Given the description of an element on the screen output the (x, y) to click on. 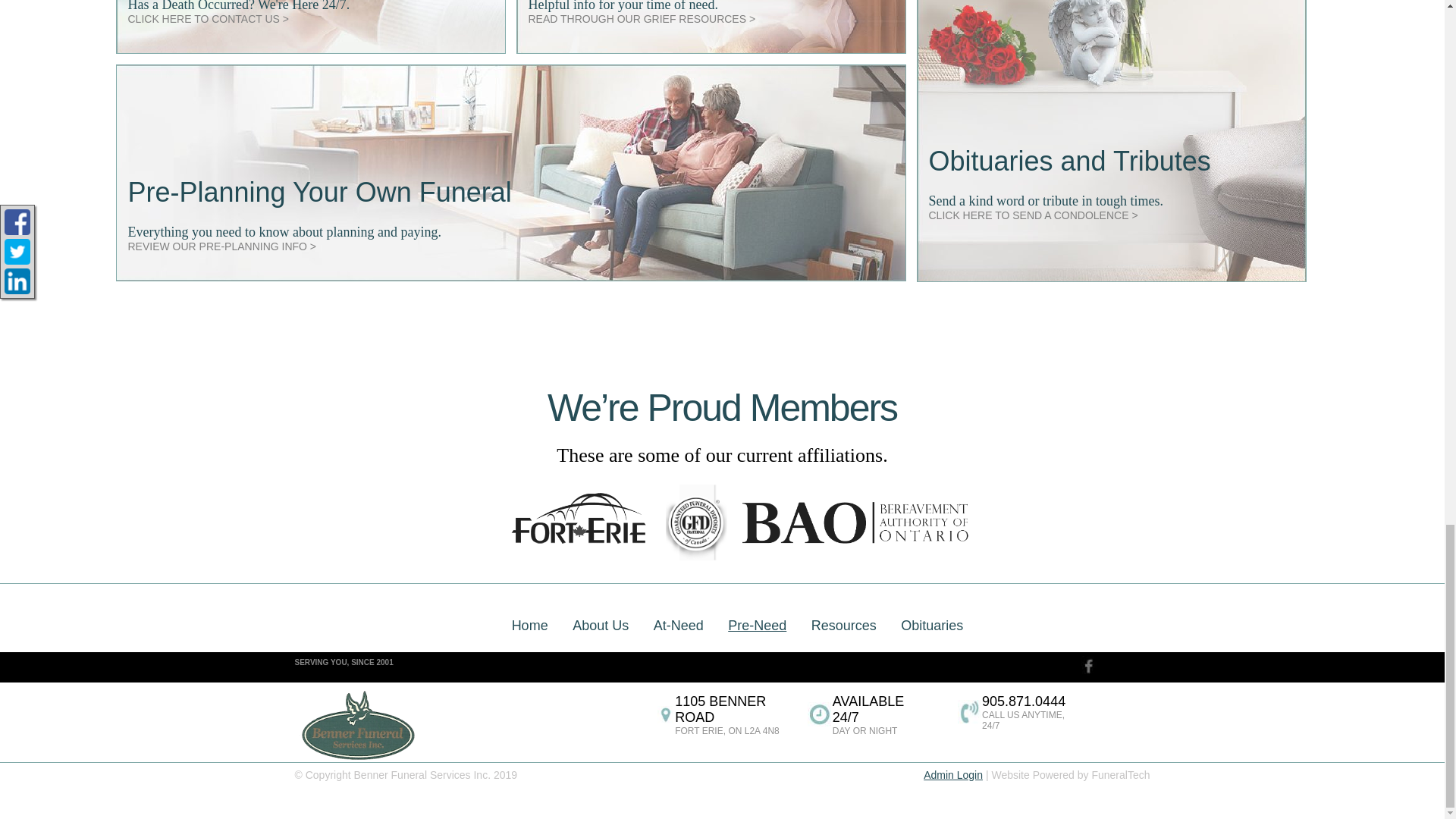
Contact Us (208, 17)
Contact Us (1179, 669)
Grief Resources (641, 17)
Pre-Need (221, 244)
